Given the description of an element on the screen output the (x, y) to click on. 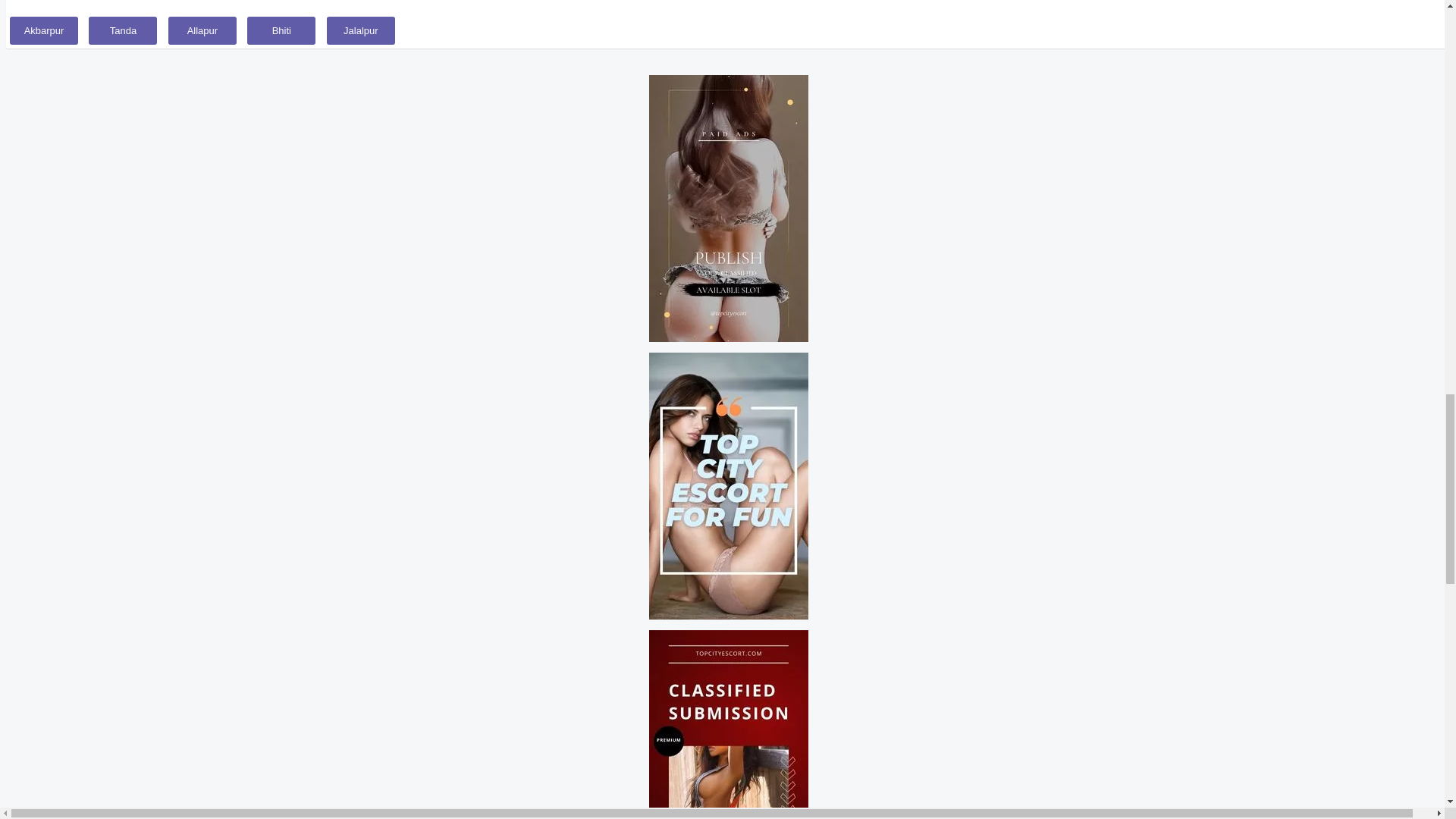
Jalalpur (360, 30)
Akbarpur (44, 30)
Bhiti (281, 30)
Tanda (122, 30)
Allapur (201, 30)
